Given the description of an element on the screen output the (x, y) to click on. 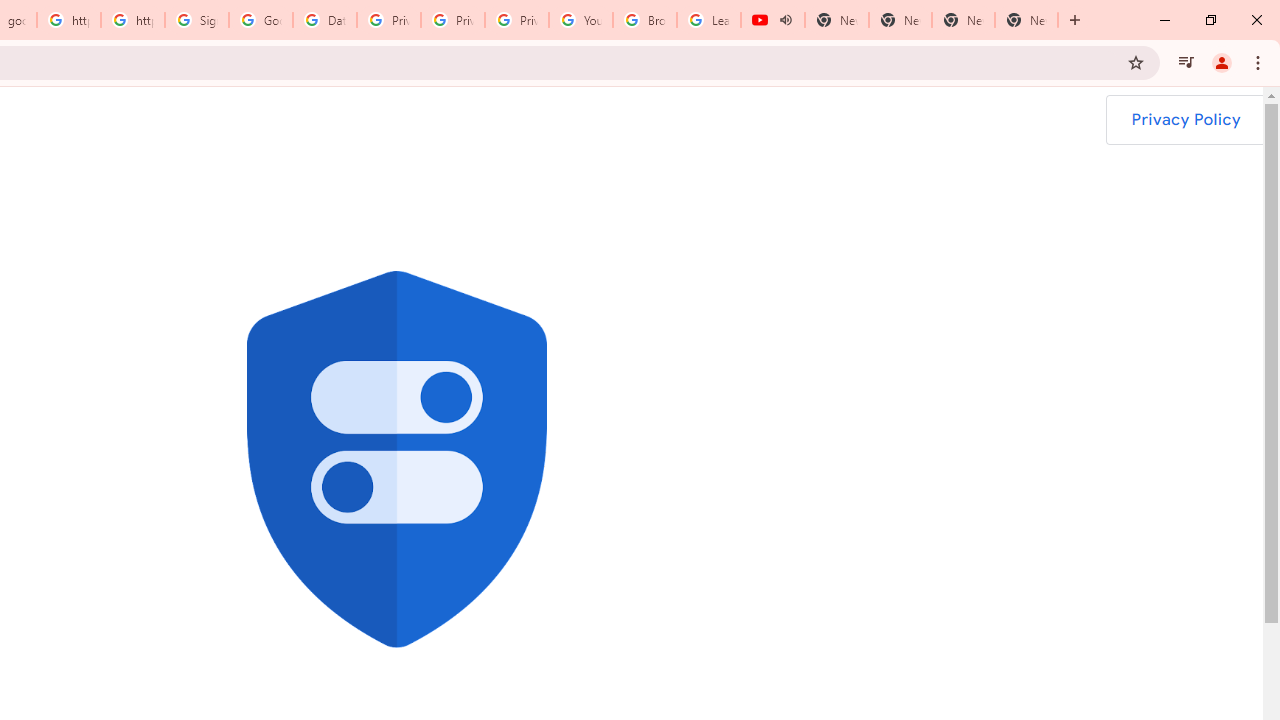
Blue Shield with Toggles (395, 459)
Sign in - Google Accounts (197, 20)
